Given the description of an element on the screen output the (x, y) to click on. 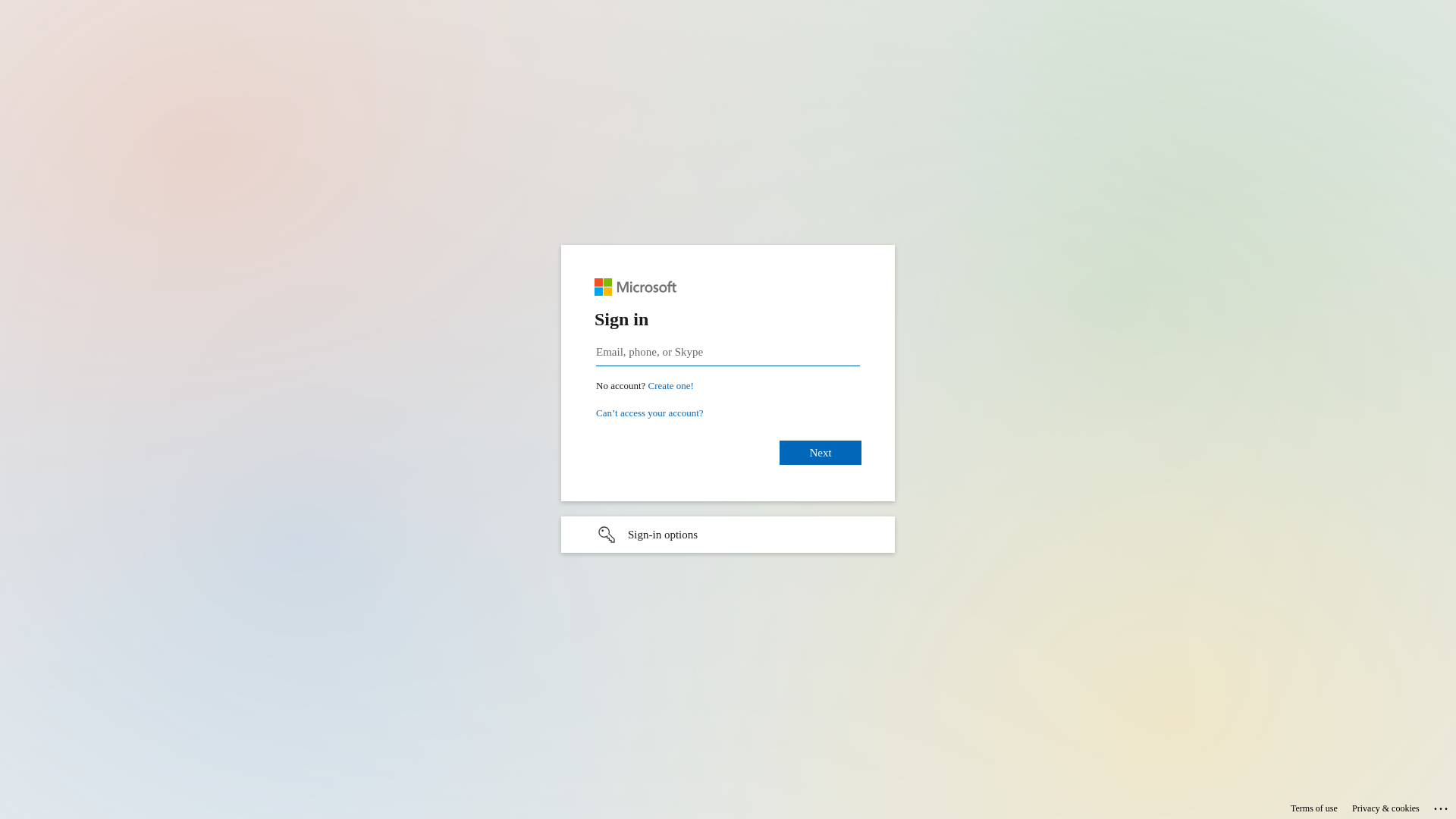
Next Element type: text (820, 452)
Create one! Element type: text (670, 385)
... Element type: text (1441, 805)
